Given the description of an element on the screen output the (x, y) to click on. 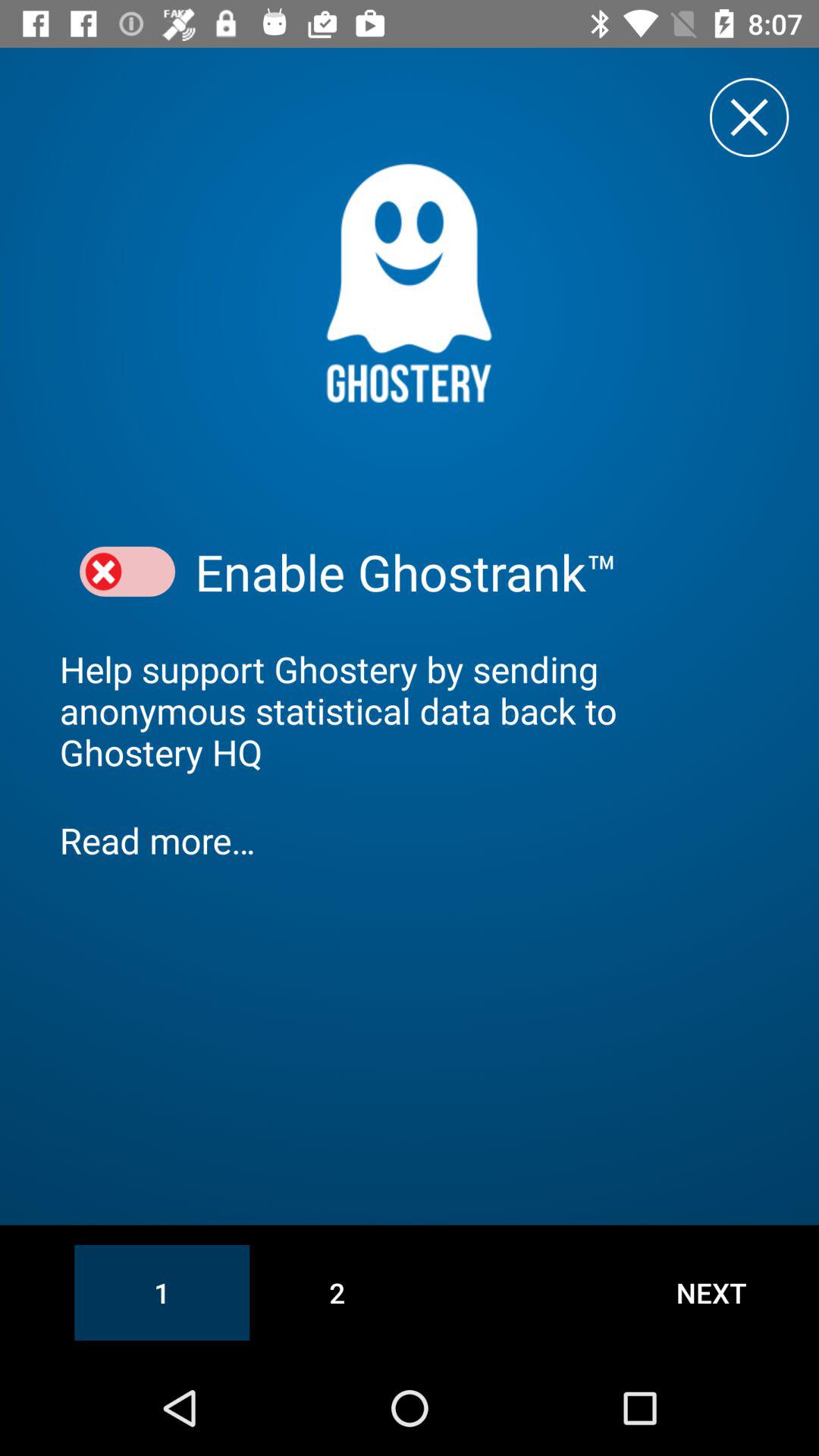
open the icon next to the next (336, 1292)
